Given the description of an element on the screen output the (x, y) to click on. 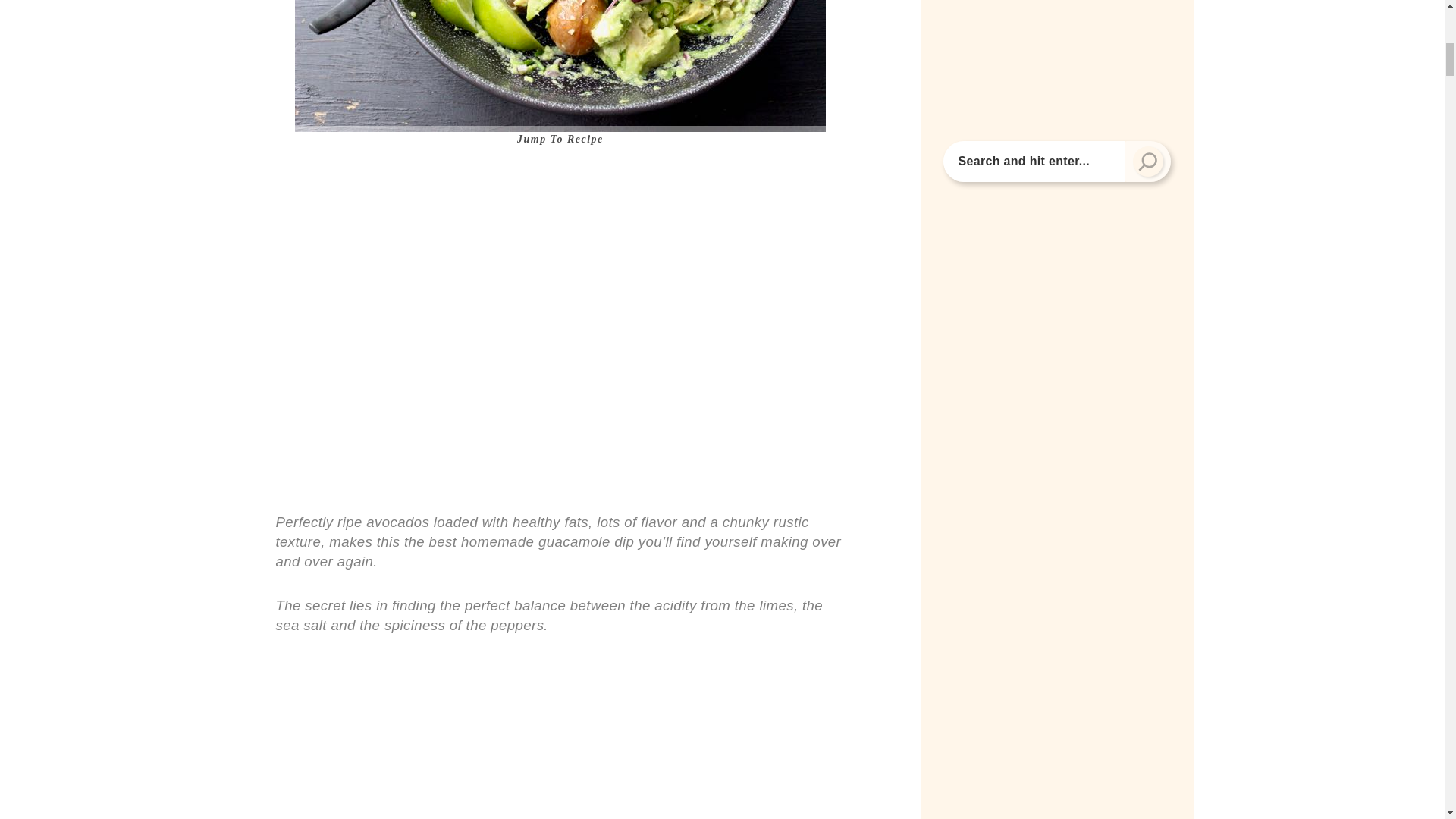
Jump To Recipe (560, 141)
